Given the description of an element on the screen output the (x, y) to click on. 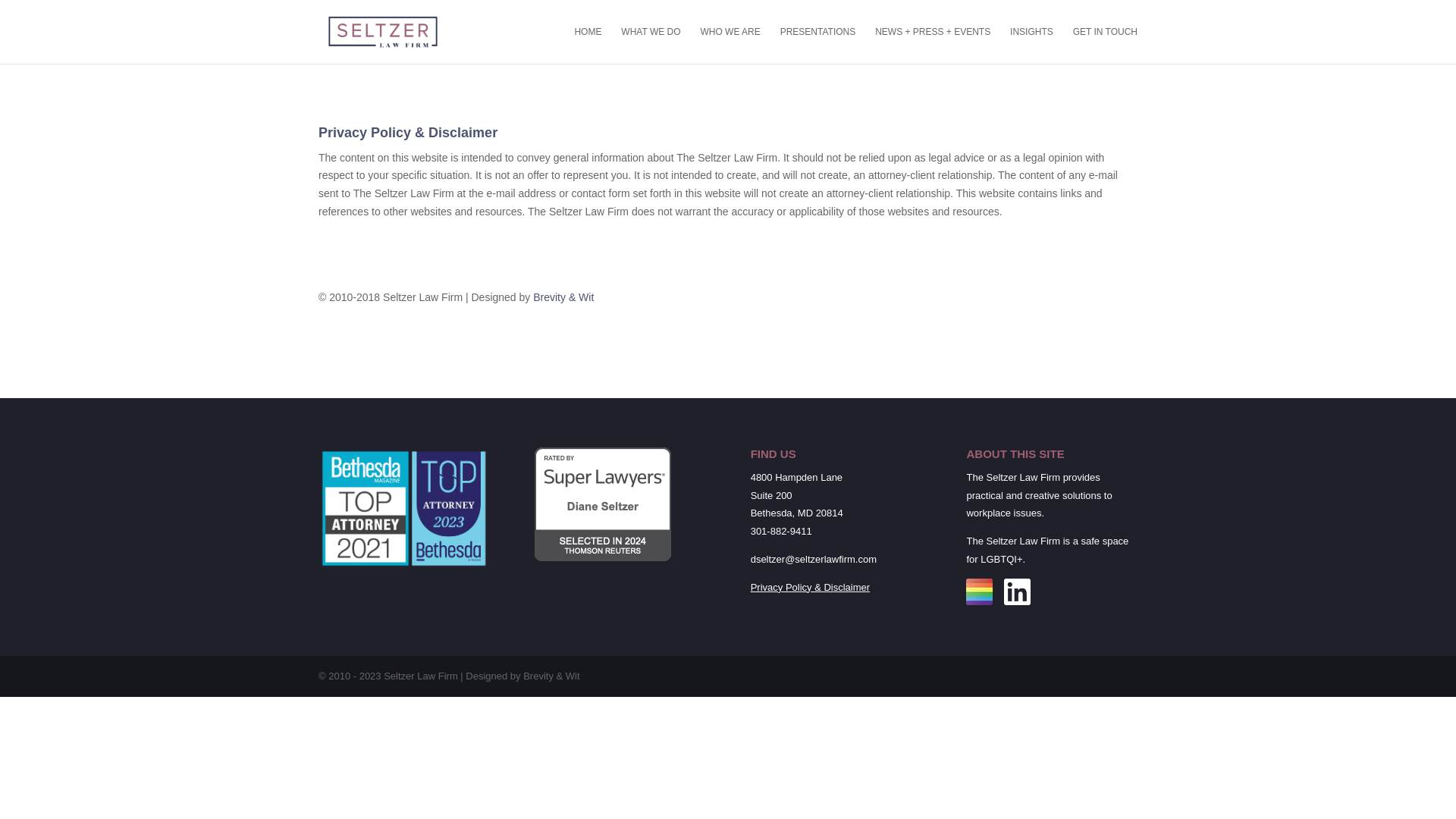
GET IN TOUCH (1105, 44)
WHAT WE DO (650, 44)
PRESENTATIONS (818, 44)
WHO WE ARE (730, 44)
INSIGHTS (1031, 44)
